Given the description of an element on the screen output the (x, y) to click on. 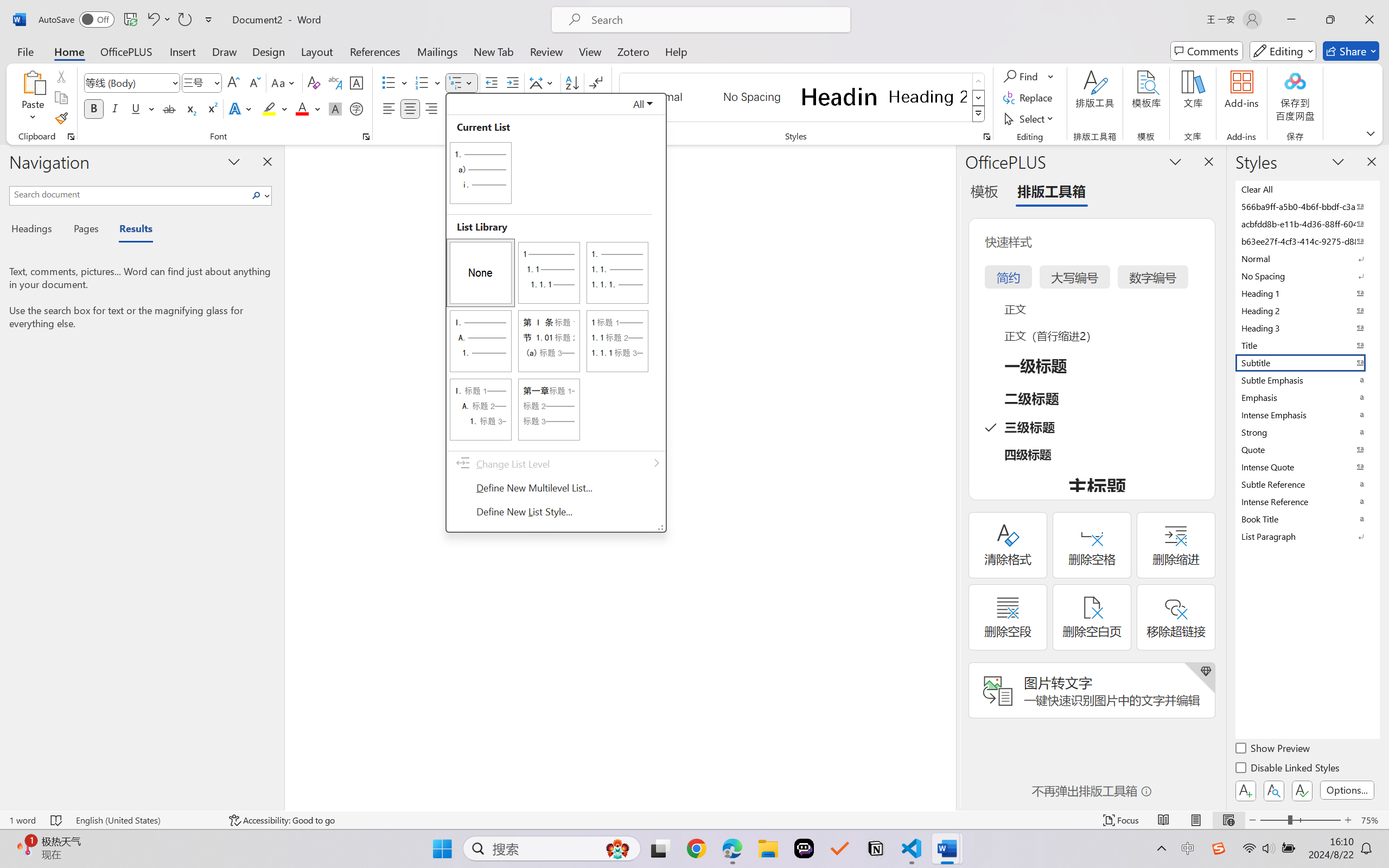
Explorer (Ctrl+Shift+E) (13, 35)
Go (128, 10)
Go Back (Alt+LeftArrow) (521, 9)
Go Forward (Alt+RightArrow) (535, 9)
Run or Debug... (1349, 31)
No Ports Forwarded (65, 836)
Manage (13, 801)
Timeline Section (94, 823)
Views and More Actions... (1347, 656)
windows_crawler actions (137, 48)
Terminal (174, 10)
Notifications (1376, 836)
del.py (326, 31)
Tab actions (351, 31)
Search (Ctrl+Shift+F) (13, 64)
